Given the description of an element on the screen output the (x, y) to click on. 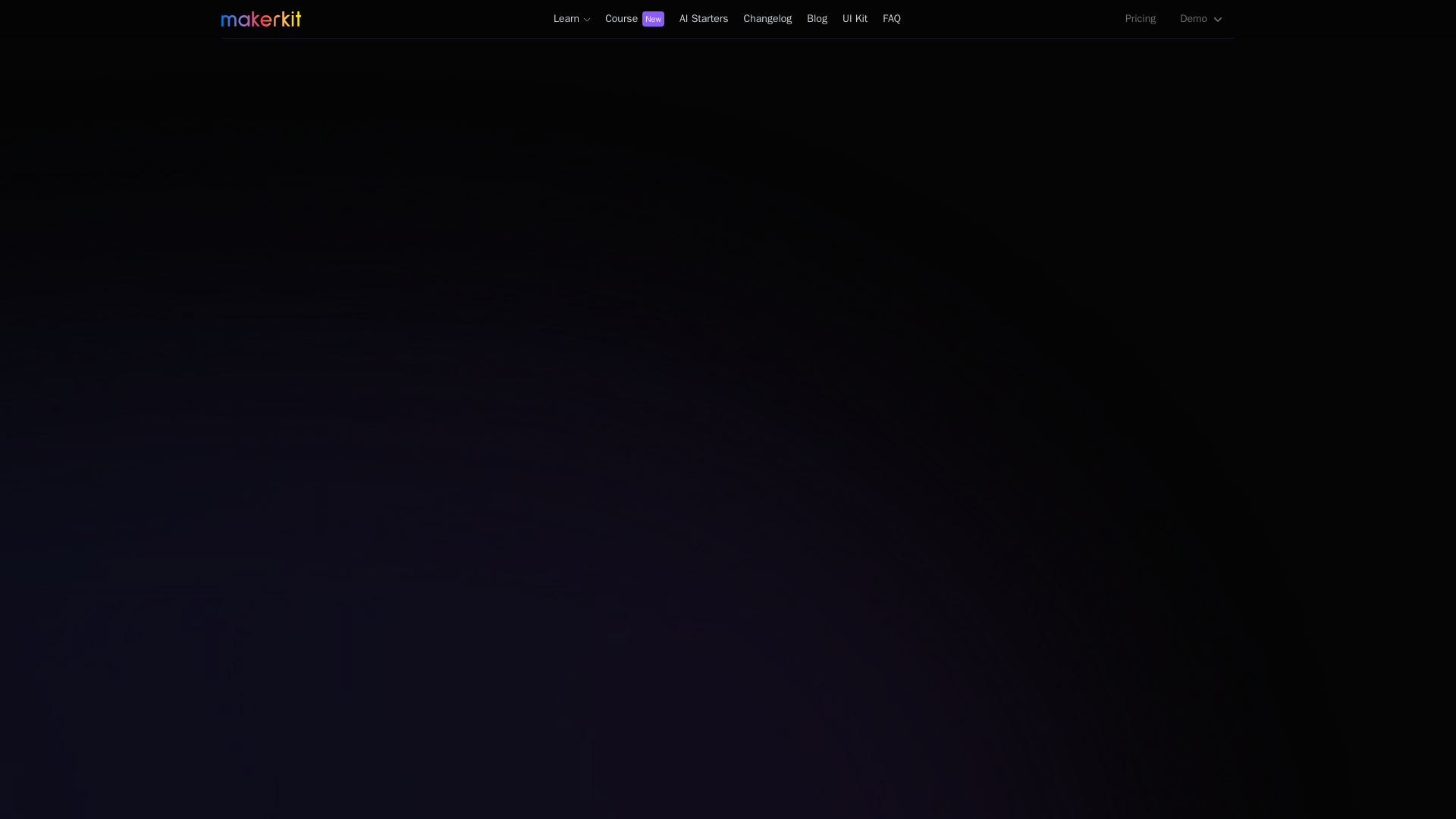
Demo (1202, 18)
Blog (816, 18)
FAQ (891, 18)
Pricing (1140, 18)
Learn (572, 18)
UI Kit (854, 18)
Changelog (633, 18)
AI Starters (767, 18)
